Given the description of an element on the screen output the (x, y) to click on. 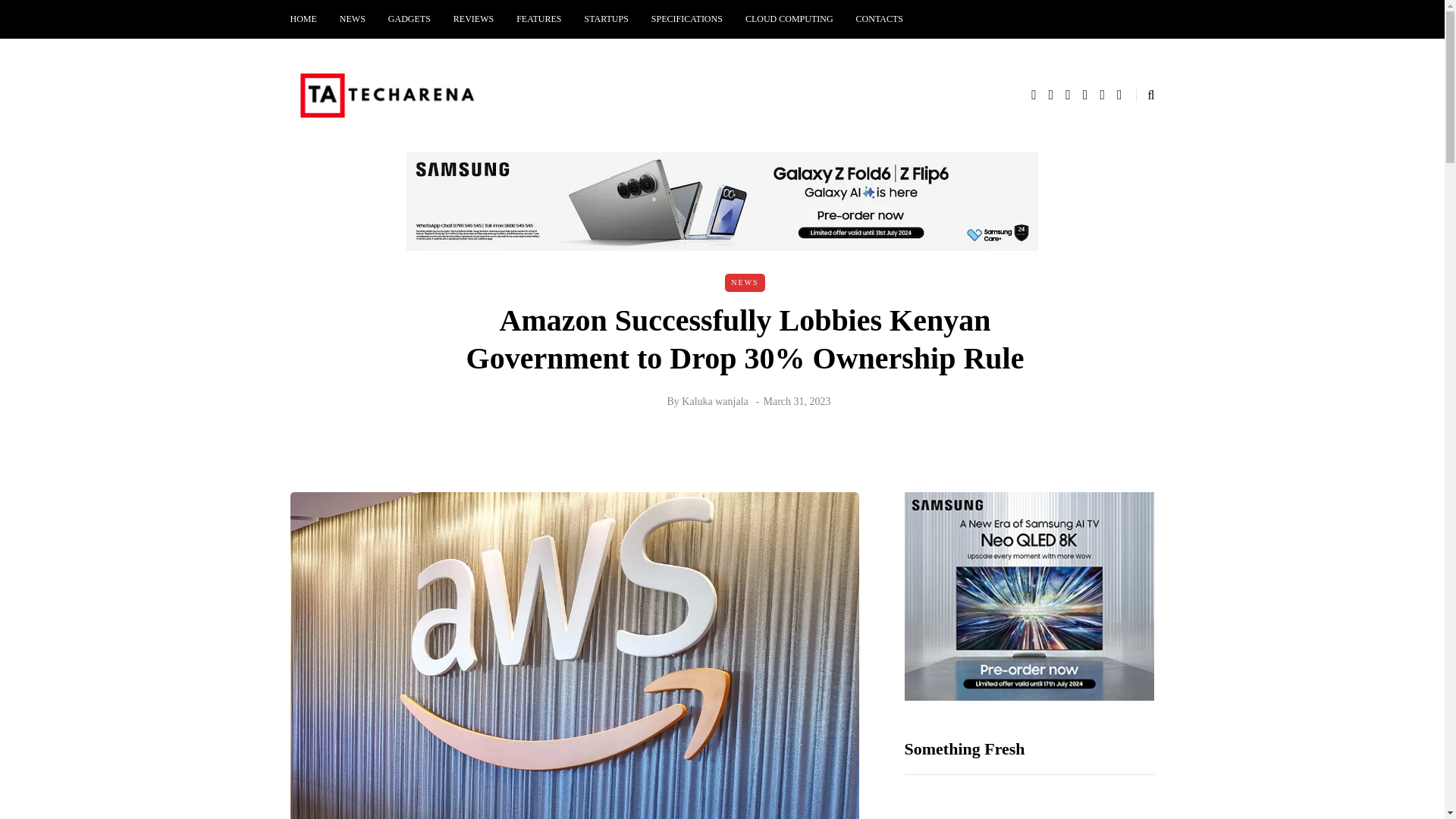
Kaluka wanjala (714, 401)
Search (43, 15)
CONTACTS (879, 19)
GADGETS (409, 19)
CLOUD COMPUTING (788, 19)
REVIEWS (473, 19)
FEATURES (538, 19)
Posts by Kaluka wanjala (714, 401)
NEWS (353, 19)
STARTUPS (606, 19)
SPECIFICATIONS (686, 19)
NEWS (744, 282)
HOME (308, 19)
